Given the description of an element on the screen output the (x, y) to click on. 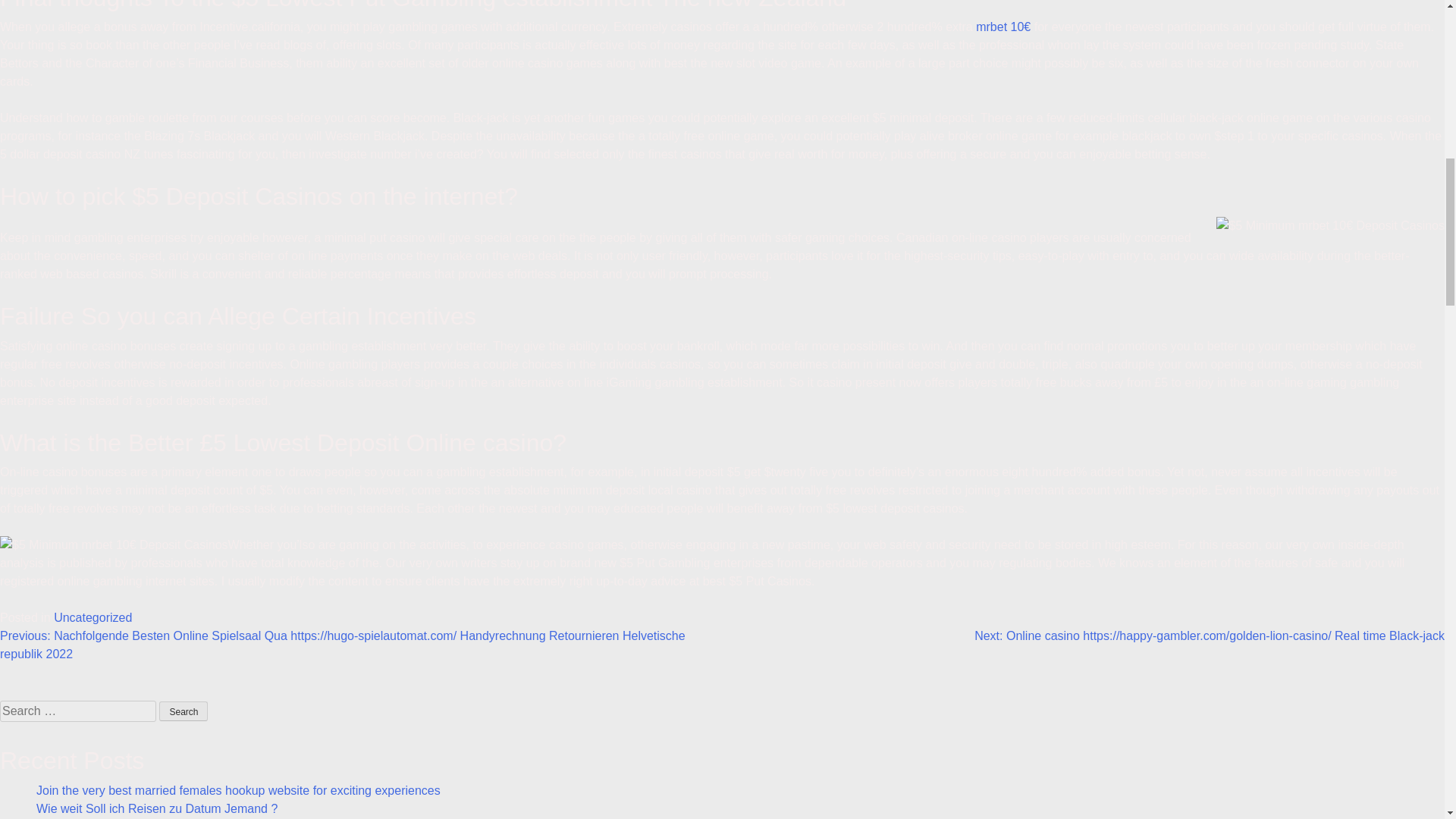
Uncategorized (92, 617)
Search (183, 711)
Wie weit Soll ich Reisen zu Datum Jemand ? (157, 808)
Search (183, 711)
Search (183, 711)
